Given the description of an element on the screen output the (x, y) to click on. 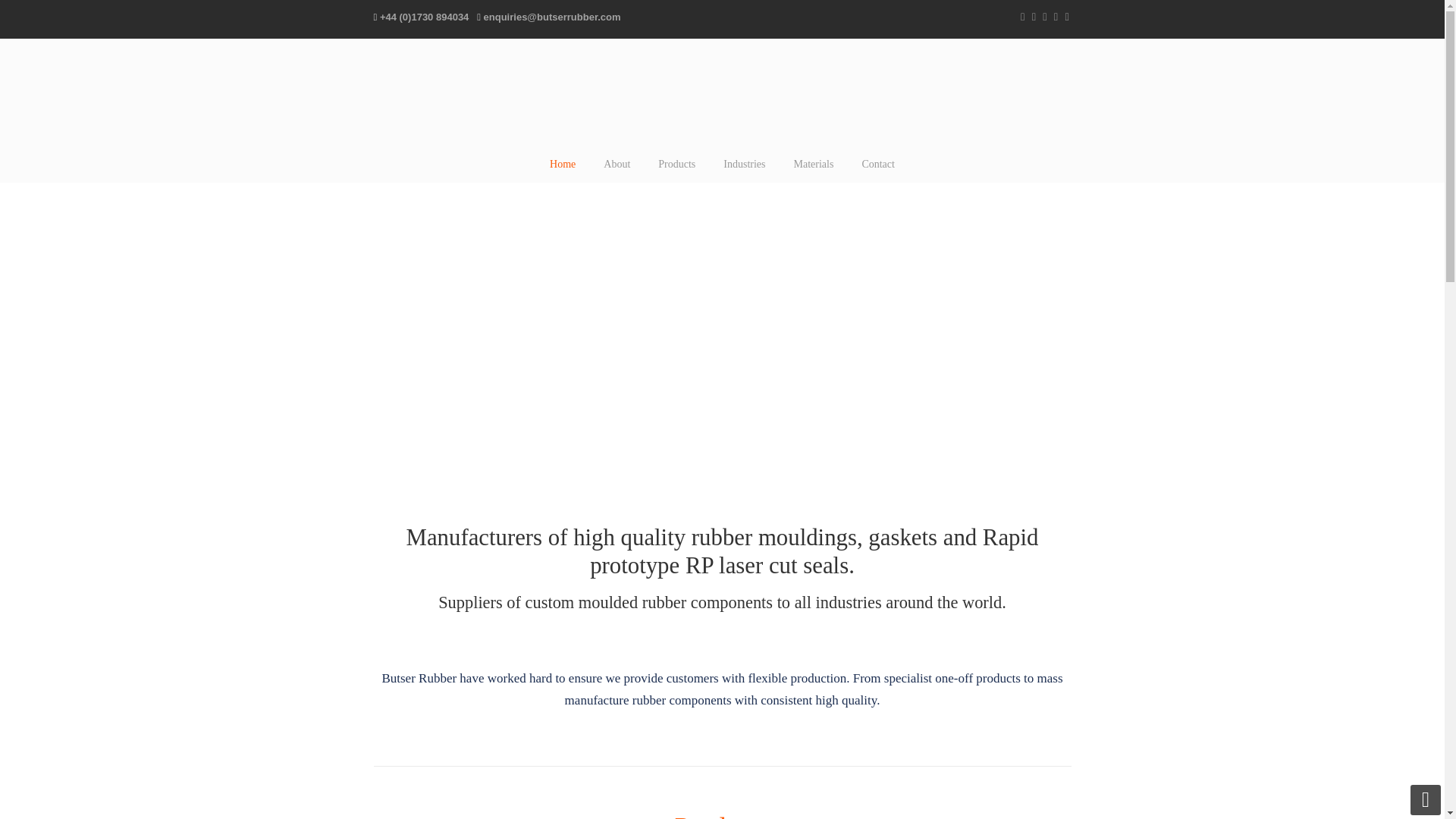
About (616, 164)
Home (562, 164)
Products (676, 164)
Contact (877, 164)
Materials (812, 164)
Industries (743, 164)
Products (722, 815)
Butser Rubber (721, 95)
Butser Rubber (721, 95)
